Given the description of an element on the screen output the (x, y) to click on. 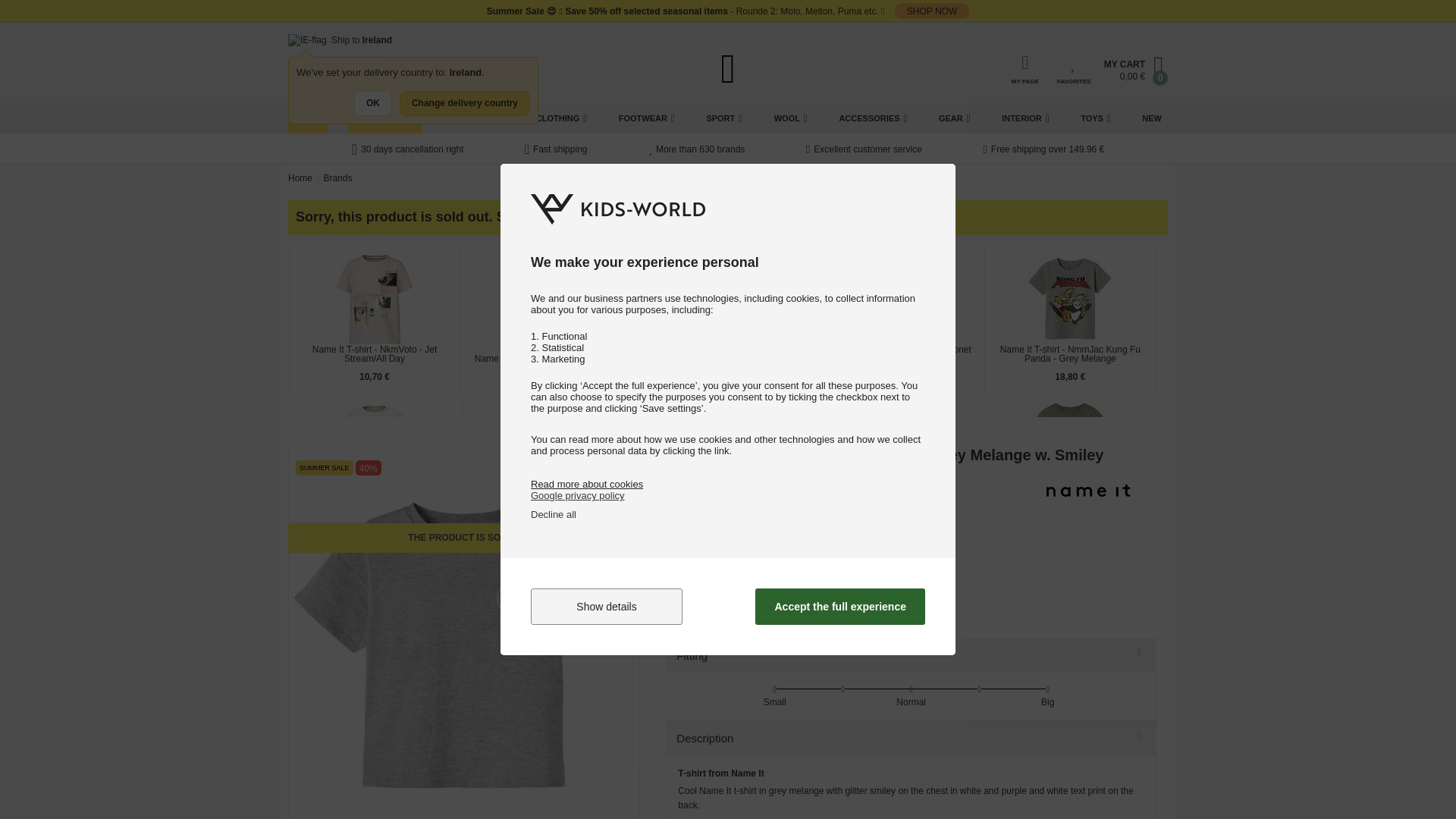
Google privacy policy (577, 495)
Accept the full experience (839, 606)
Read more about cookies (587, 483)
Decline all (553, 514)
Show details (606, 606)
